Given the description of an element on the screen output the (x, y) to click on. 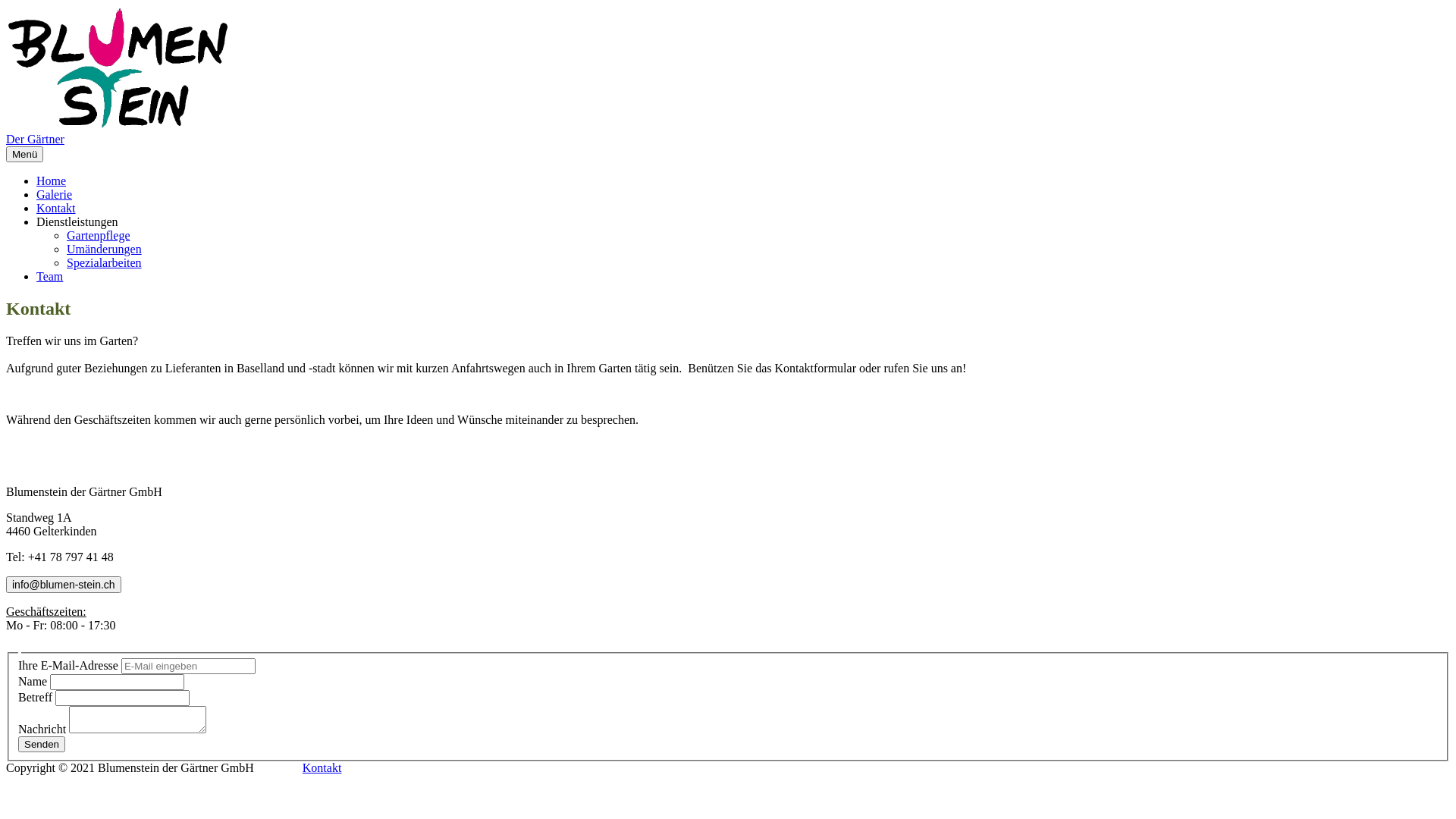
Kontakt Element type: text (322, 767)
Gartenpflege Element type: text (98, 235)
Home Element type: text (50, 180)
Senden Element type: text (41, 744)
info@blumen-stein.ch Element type: text (63, 584)
Spezialarbeiten Element type: text (103, 262)
singleline_1 Element type: hover (117, 682)
Kontakt Element type: text (55, 207)
Team Element type: text (49, 275)
singleline_2 Element type: hover (122, 698)
Galerie Element type: text (54, 194)
